Given the description of an element on the screen output the (x, y) to click on. 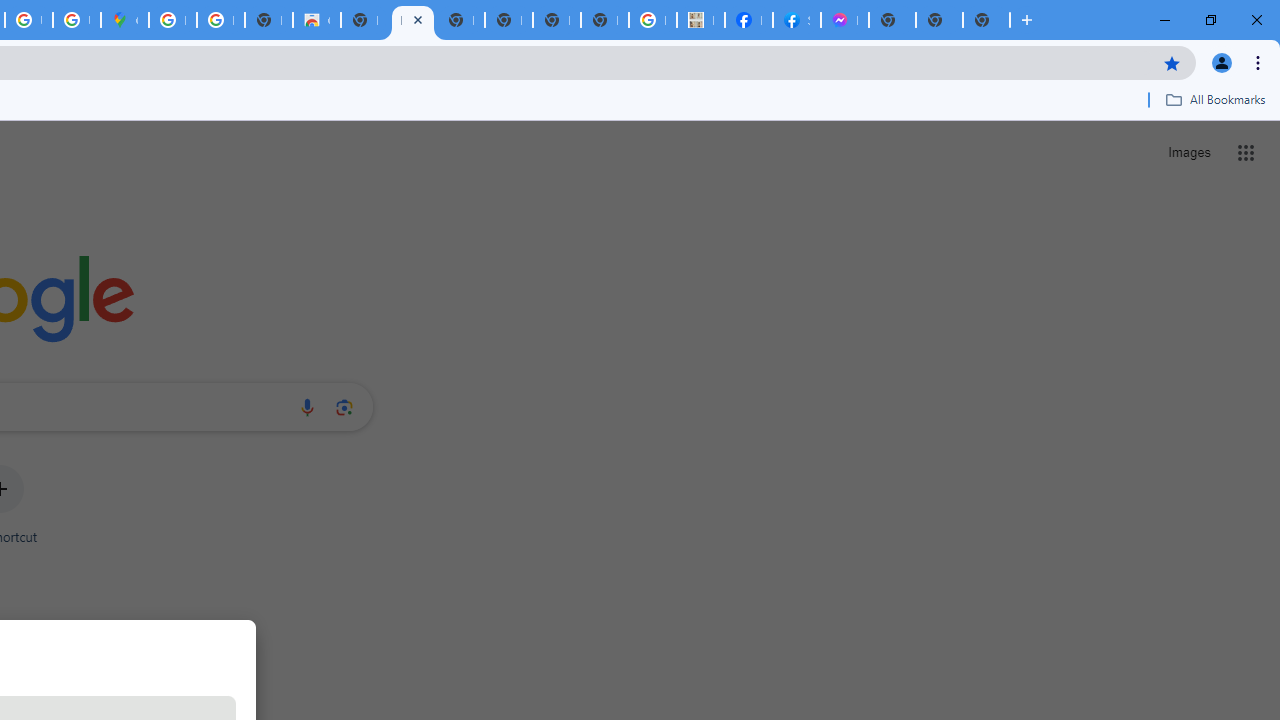
Sign Up for Facebook (796, 20)
Chrome Web Store (316, 20)
MILEY CYRUS. (700, 20)
Miley Cyrus | Facebook (748, 20)
Messenger (844, 20)
